Given the description of an element on the screen output the (x, y) to click on. 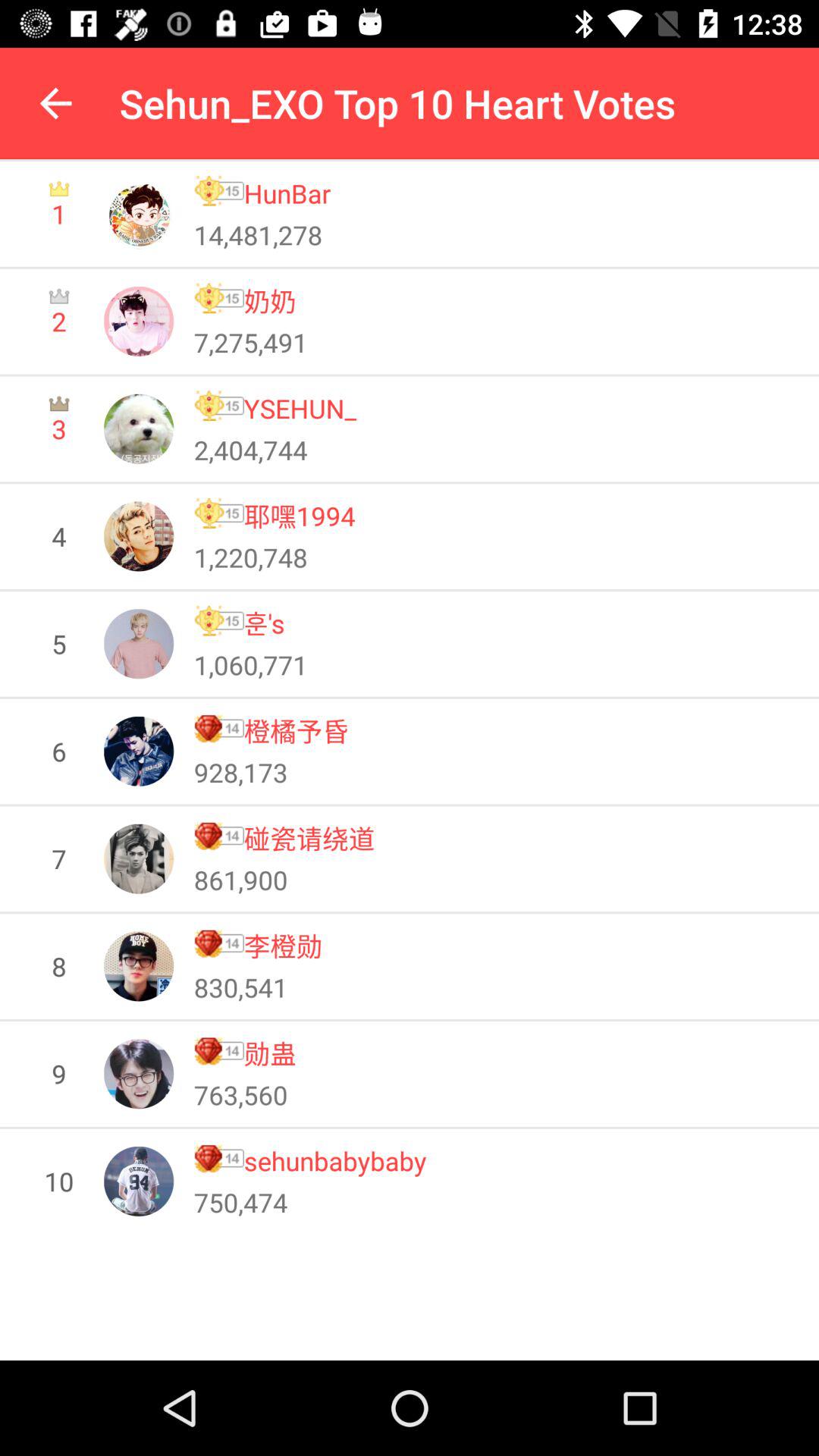
launch item above the 763,560 icon (269, 1052)
